Given the description of an element on the screen output the (x, y) to click on. 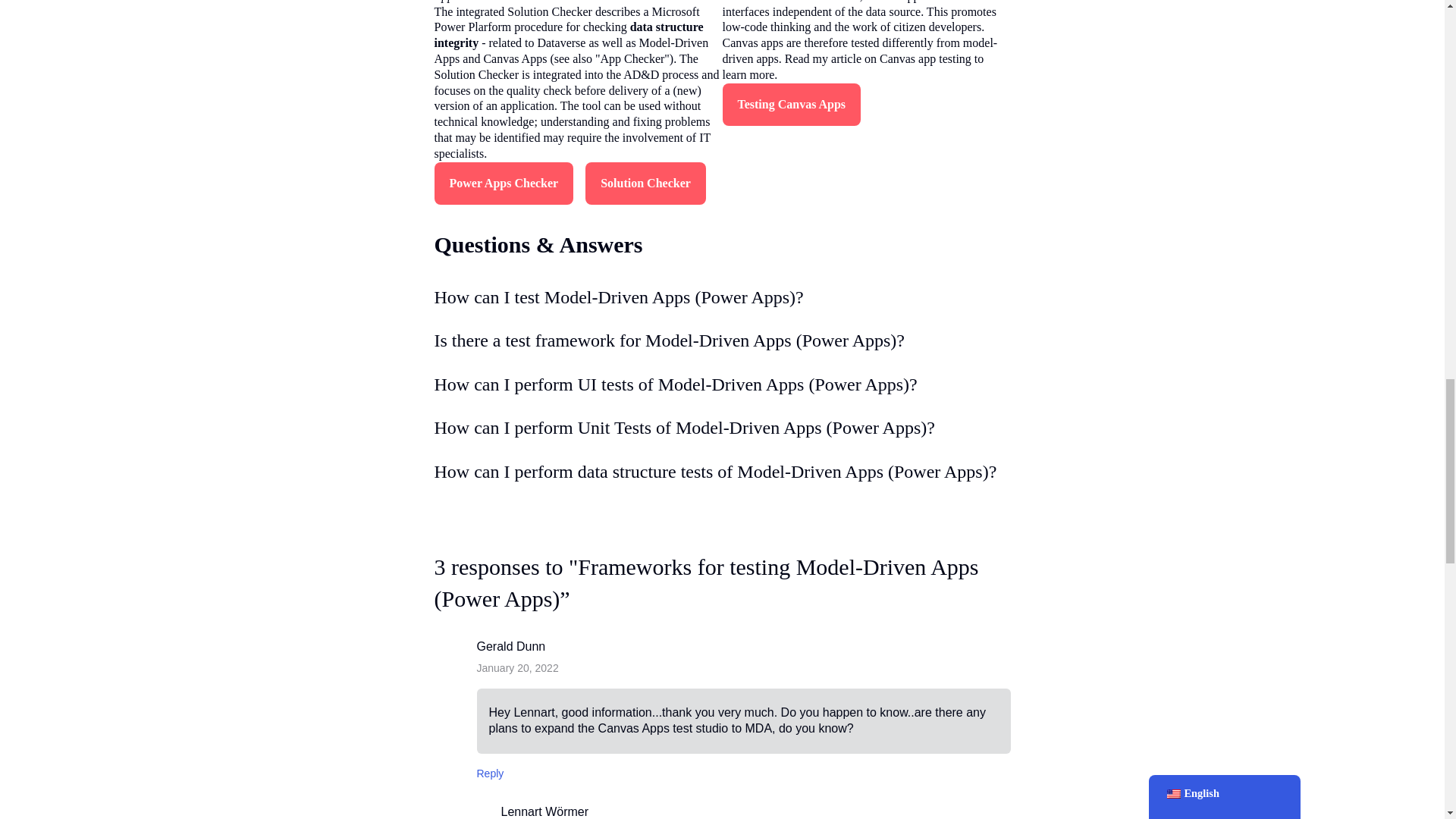
Testing Canvas Apps (791, 104)
Power Apps Checker (503, 183)
Solution Checker (645, 183)
January 20, 2022 (516, 667)
Reply (489, 773)
